Given the description of an element on the screen output the (x, y) to click on. 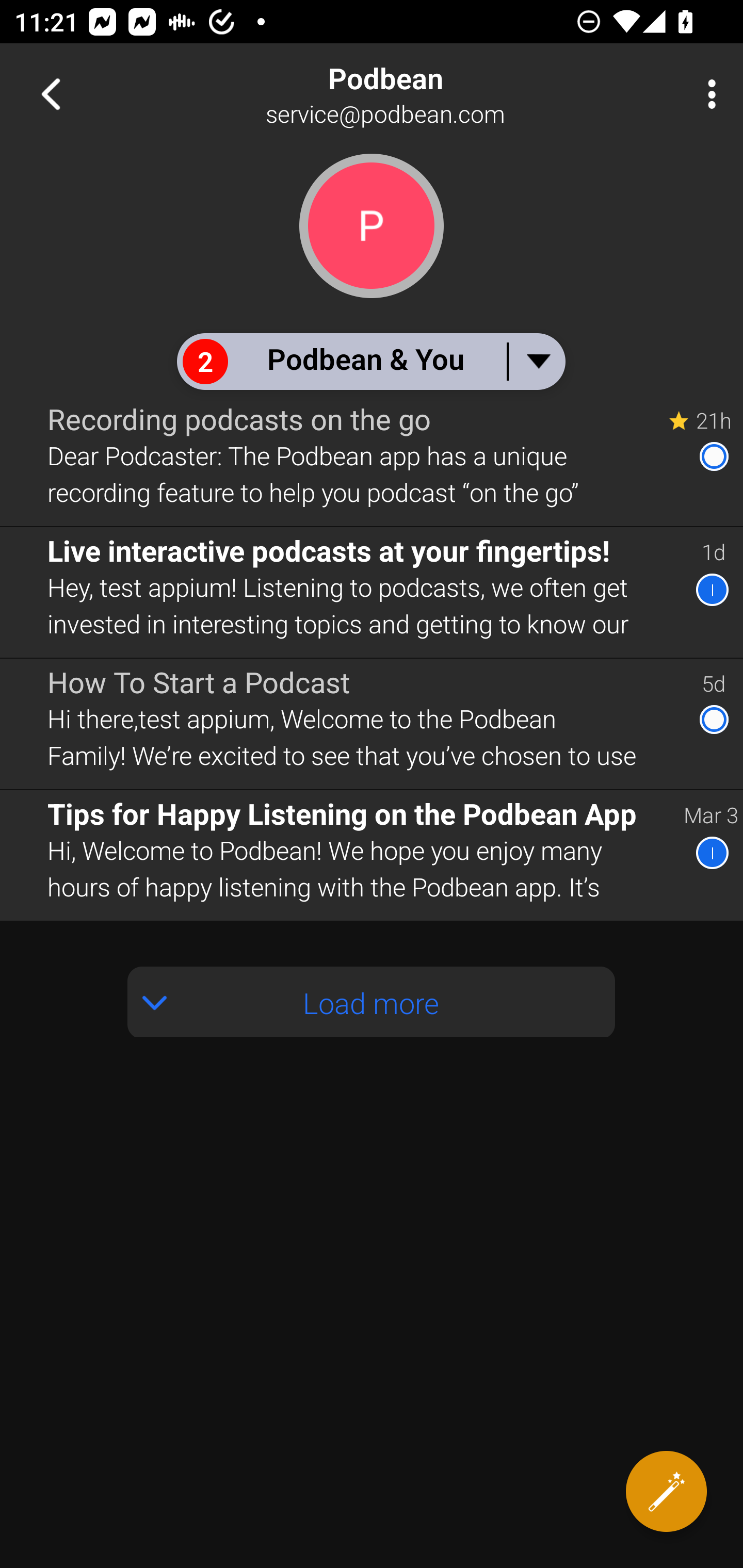
Navigate up (50, 93)
Podbean service@podbean.com (436, 93)
More Options (706, 93)
2 Podbean & You (370, 361)
Load more (371, 1001)
